Given the description of an element on the screen output the (x, y) to click on. 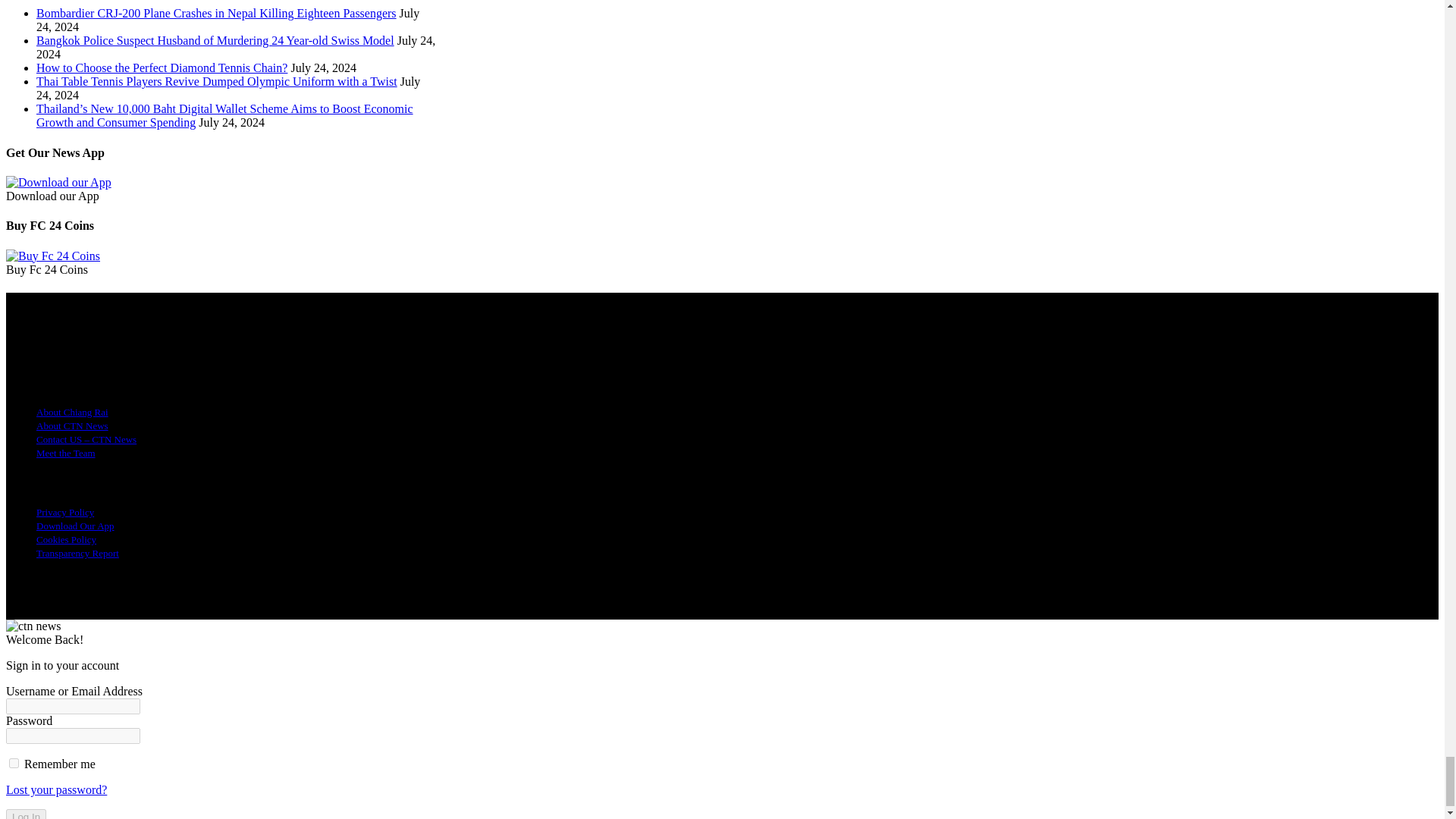
forever (13, 763)
Advertisement (58, 182)
Buy FC24 Coins (52, 255)
